Given the description of an element on the screen output the (x, y) to click on. 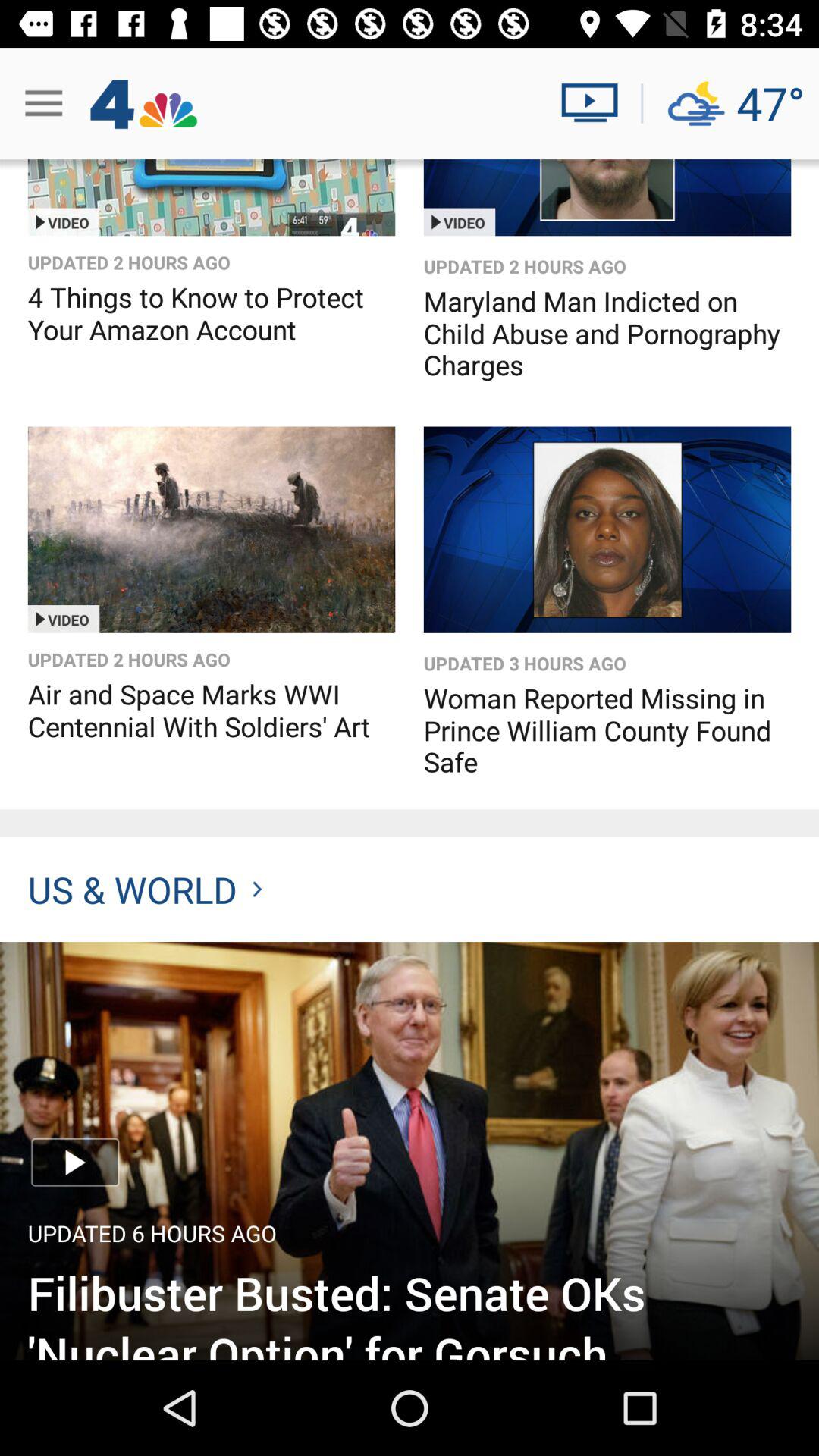
select option (211, 197)
